Given the description of an element on the screen output the (x, y) to click on. 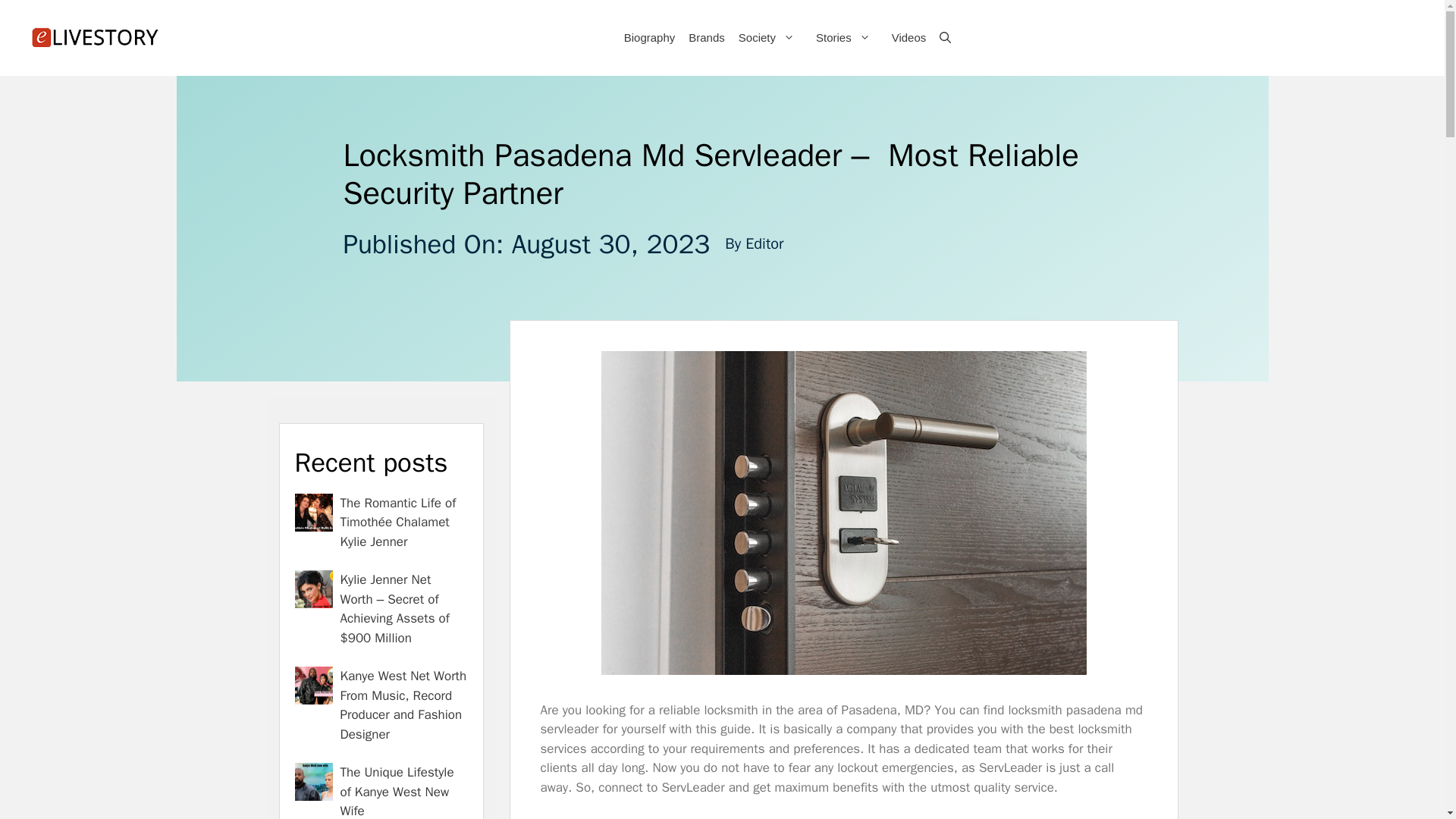
Stories (845, 37)
Society (769, 37)
Brands (705, 37)
Biography (648, 37)
Videos (908, 37)
